Given the description of an element on the screen output the (x, y) to click on. 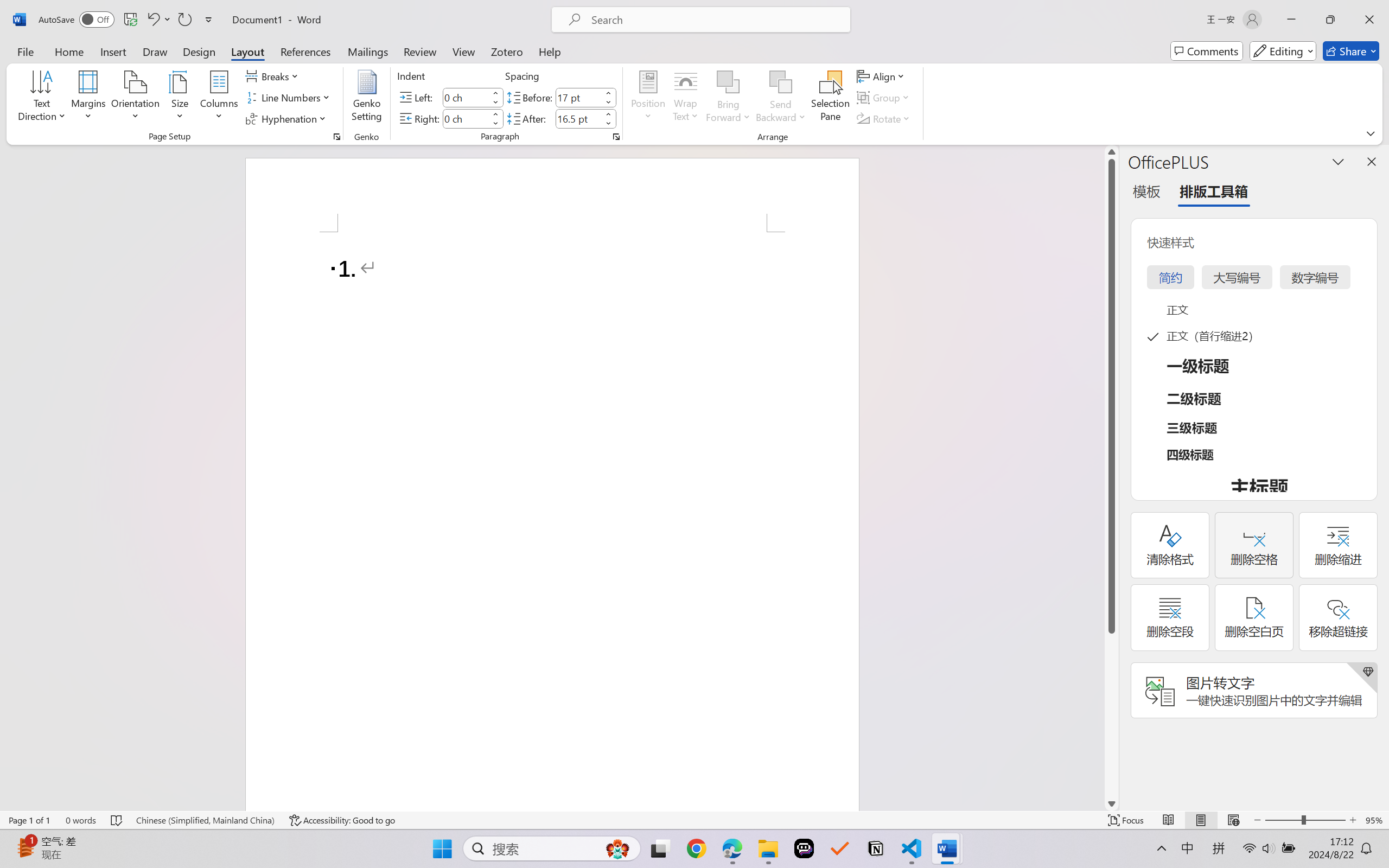
Page down (1111, 714)
Spacing After (578, 118)
Hyphenation (287, 118)
Group (884, 97)
Indent Left (465, 96)
